Given the description of an element on the screen output the (x, y) to click on. 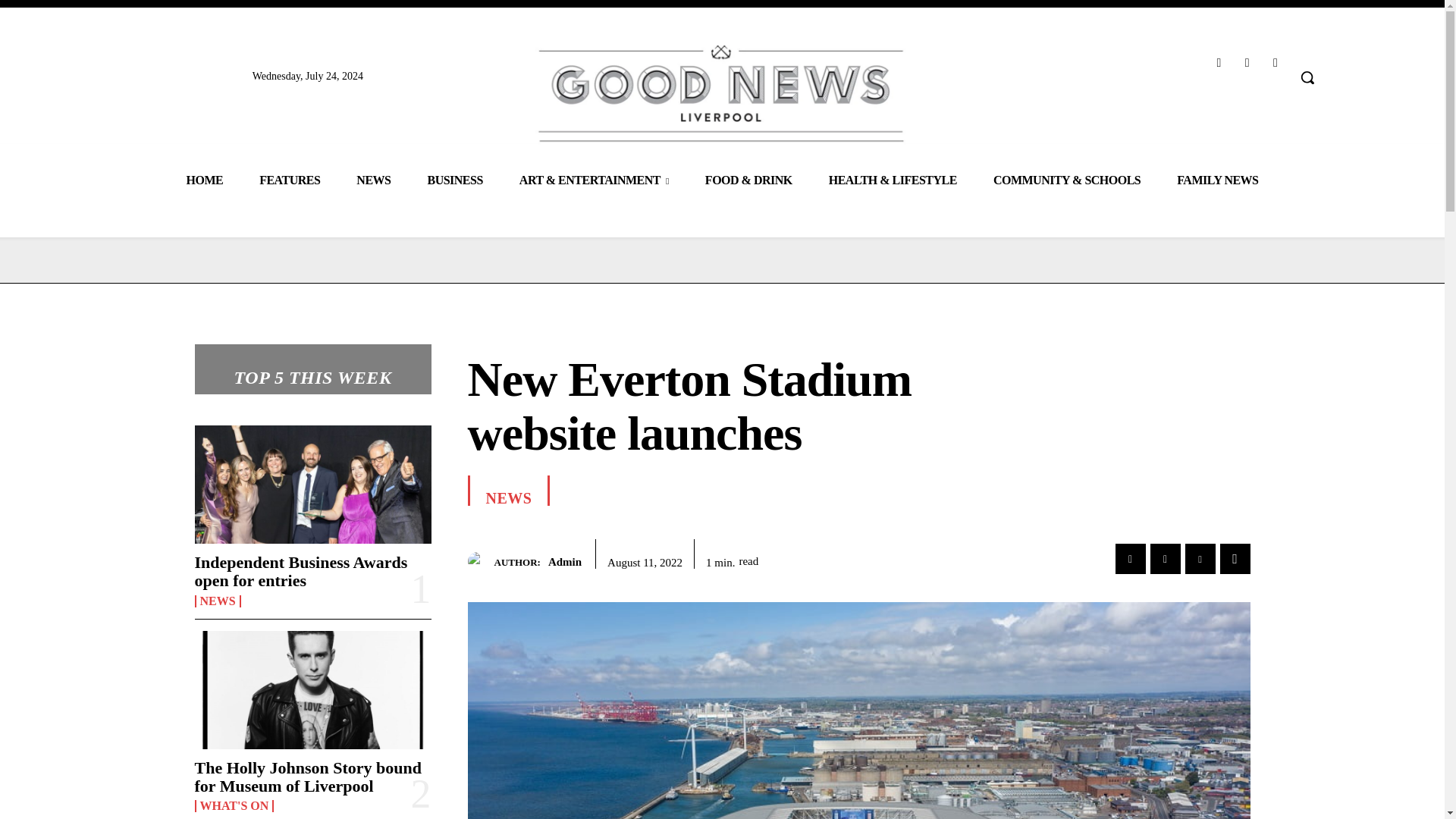
Independent Business Awards open for entries (300, 570)
Facebook (1218, 62)
The Holly Johnson Story bound for Museum of Liverpool (307, 776)
BUSINESS (454, 179)
HOME (204, 179)
FEATURES (289, 179)
Twitter (1275, 62)
Instagram (1246, 62)
Independent Business Awards open for entries (311, 484)
NEWS (373, 179)
The Holly Johnson Story bound for Museum of Liverpool (311, 689)
